Given the description of an element on the screen output the (x, y) to click on. 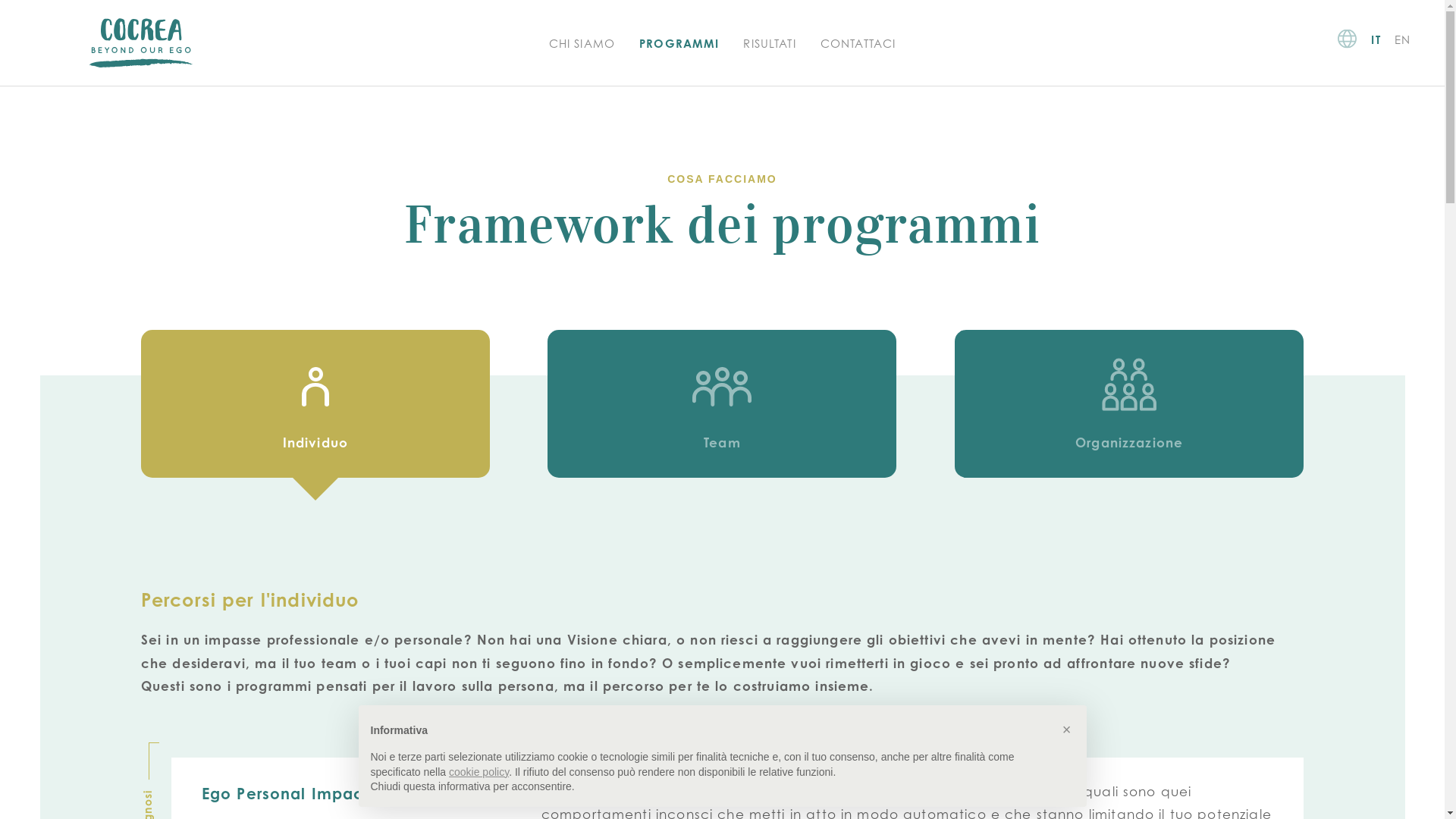
RISULTATI Element type: text (769, 43)
Organizzazione Element type: text (1128, 403)
CONTATTACI Element type: text (858, 43)
IT Element type: text (1375, 38)
Team Element type: text (721, 403)
EN Element type: text (1402, 38)
Individuo Element type: text (315, 403)
CHI SIAMO Element type: text (582, 43)
cookie policy Element type: text (478, 771)
PROGRAMMI Element type: text (678, 43)
